Given the description of an element on the screen output the (x, y) to click on. 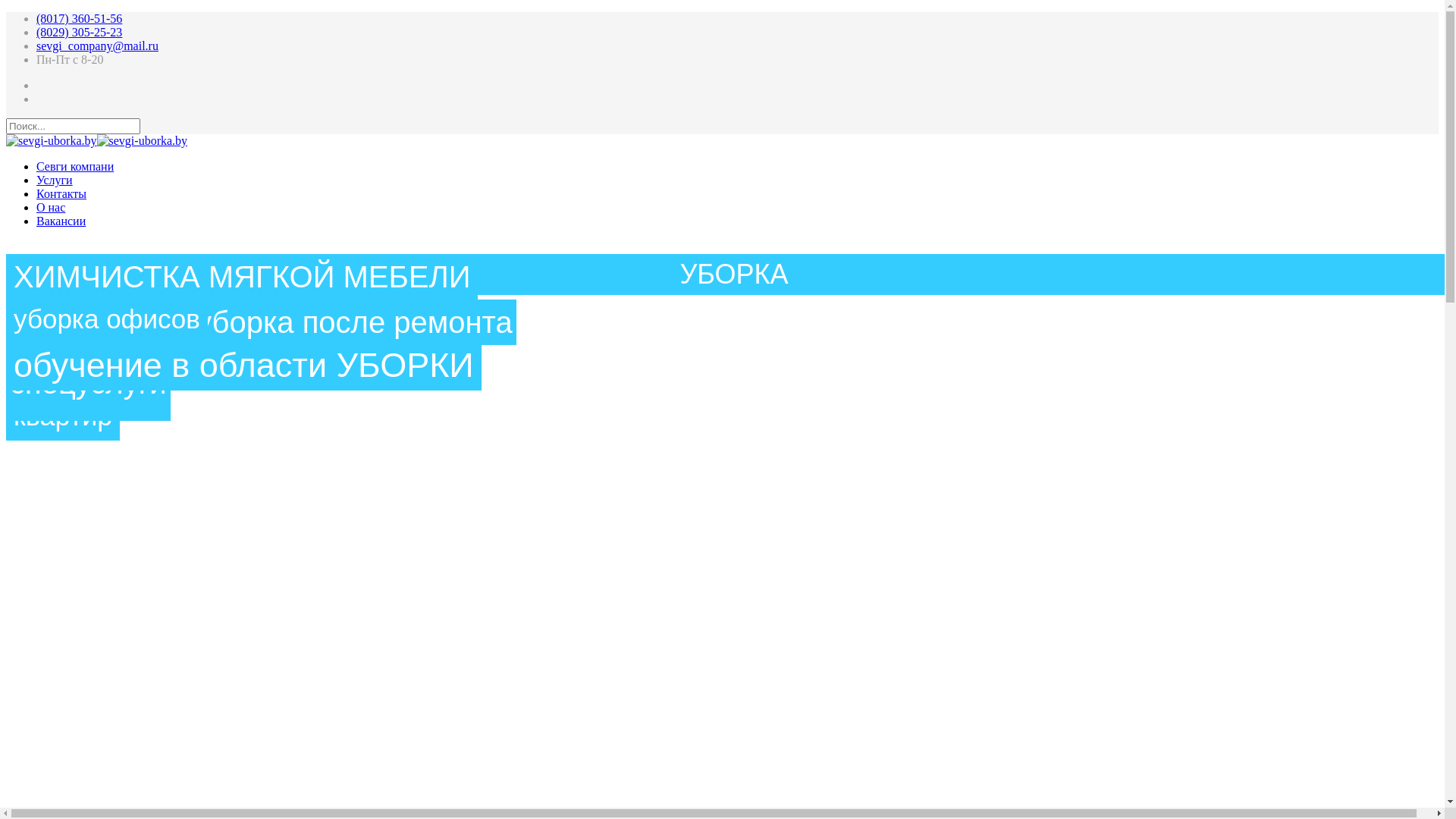
(8029) 305-25-23 Element type: text (79, 31)
sevgi_company@mail.ru Element type: text (97, 45)
(8017) 360-51-56 Element type: text (79, 18)
